Given the description of an element on the screen output the (x, y) to click on. 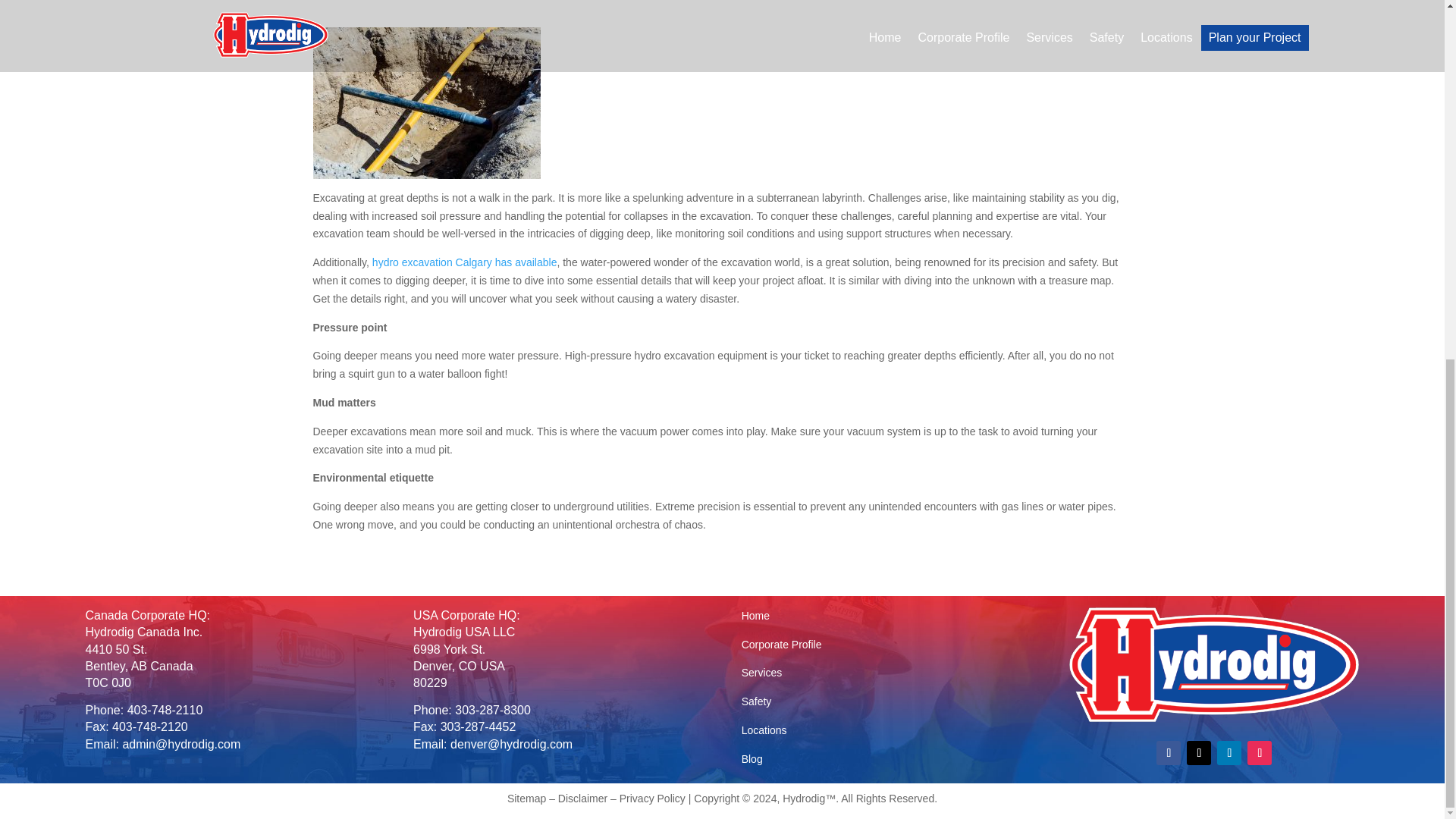
Services (762, 672)
Home (755, 615)
Follow on LinkedIn (1229, 752)
Safety (756, 701)
Follow on X (1198, 752)
303-287-8300 (492, 709)
Corporate Profile (781, 644)
403-748-2110 (165, 709)
Follow on Facebook (1168, 752)
Blog (751, 758)
